Given the description of an element on the screen output the (x, y) to click on. 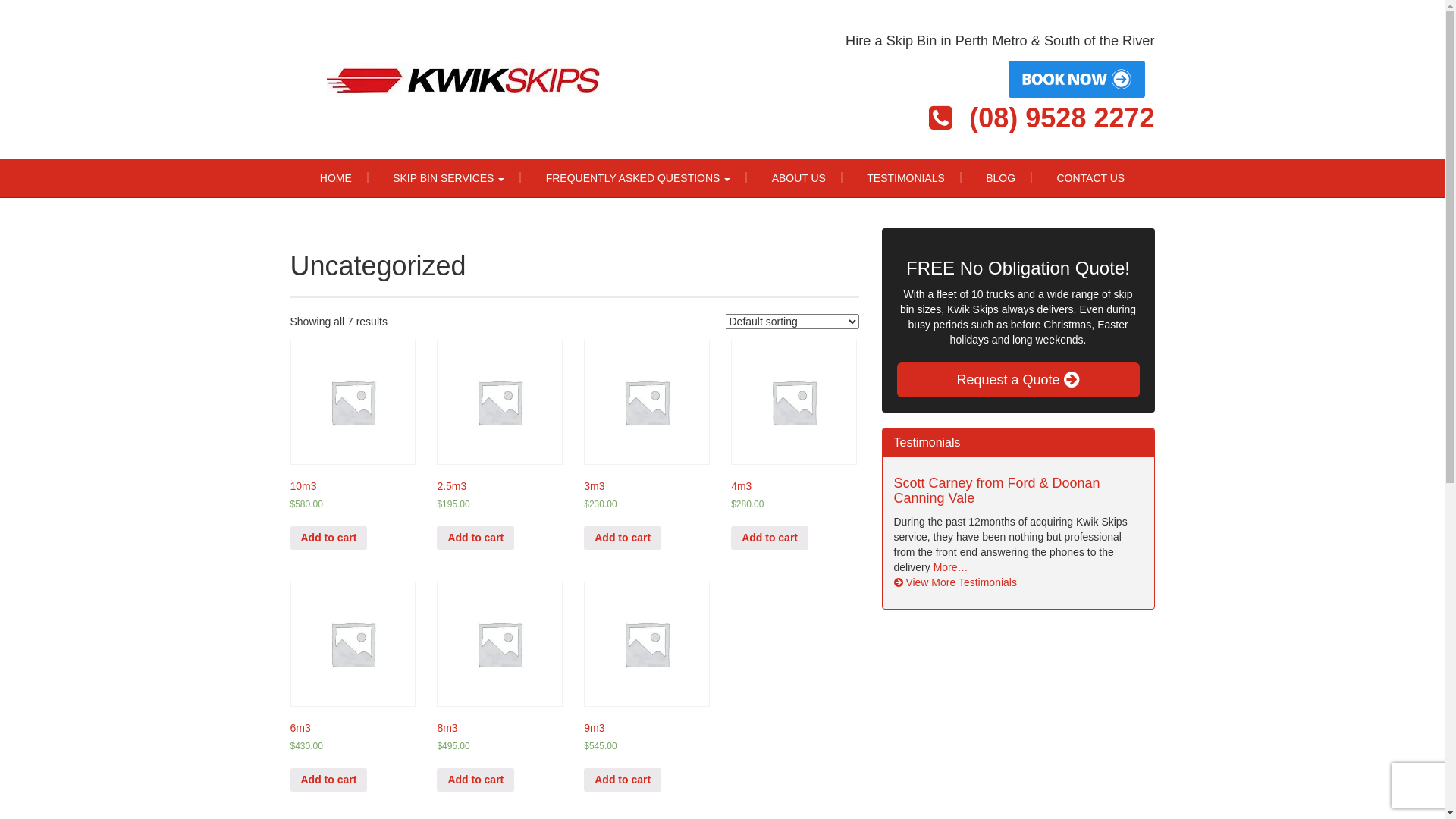
Add to cart Element type: text (769, 537)
Add to cart Element type: text (622, 779)
ABOUT US Element type: text (798, 178)
TESTIMONIALS Element type: text (905, 178)
Add to cart Element type: text (328, 779)
10m3
$580.00 Element type: text (351, 441)
2.5m3
$195.00 Element type: text (498, 441)
4m3
$280.00 Element type: text (793, 441)
Request a Quote Element type: text (1017, 379)
Add to cart Element type: text (328, 537)
Add to cart Element type: text (475, 779)
BLOG Element type: text (1000, 178)
Scott Carney from Ford & Doonan Canning Vale Element type: text (996, 490)
CONTACT US Element type: text (1089, 178)
Add to cart Element type: text (622, 537)
Add to cart Element type: text (475, 537)
(08) 9528 2272 Element type: text (1061, 117)
6m3
$430.00 Element type: text (351, 683)
View More Testimonials Element type: text (954, 582)
Skip Bin Hire by Kwik Skips Element type: hover (463, 79)
SKIP BIN SERVICES Element type: text (448, 178)
3m3
$230.00 Element type: text (646, 441)
9m3
$545.00 Element type: text (646, 683)
FREQUENTLY ASKED QUESTIONS Element type: text (638, 178)
8m3
$495.00 Element type: text (498, 683)
HOME Element type: text (335, 178)
